Given the description of an element on the screen output the (x, y) to click on. 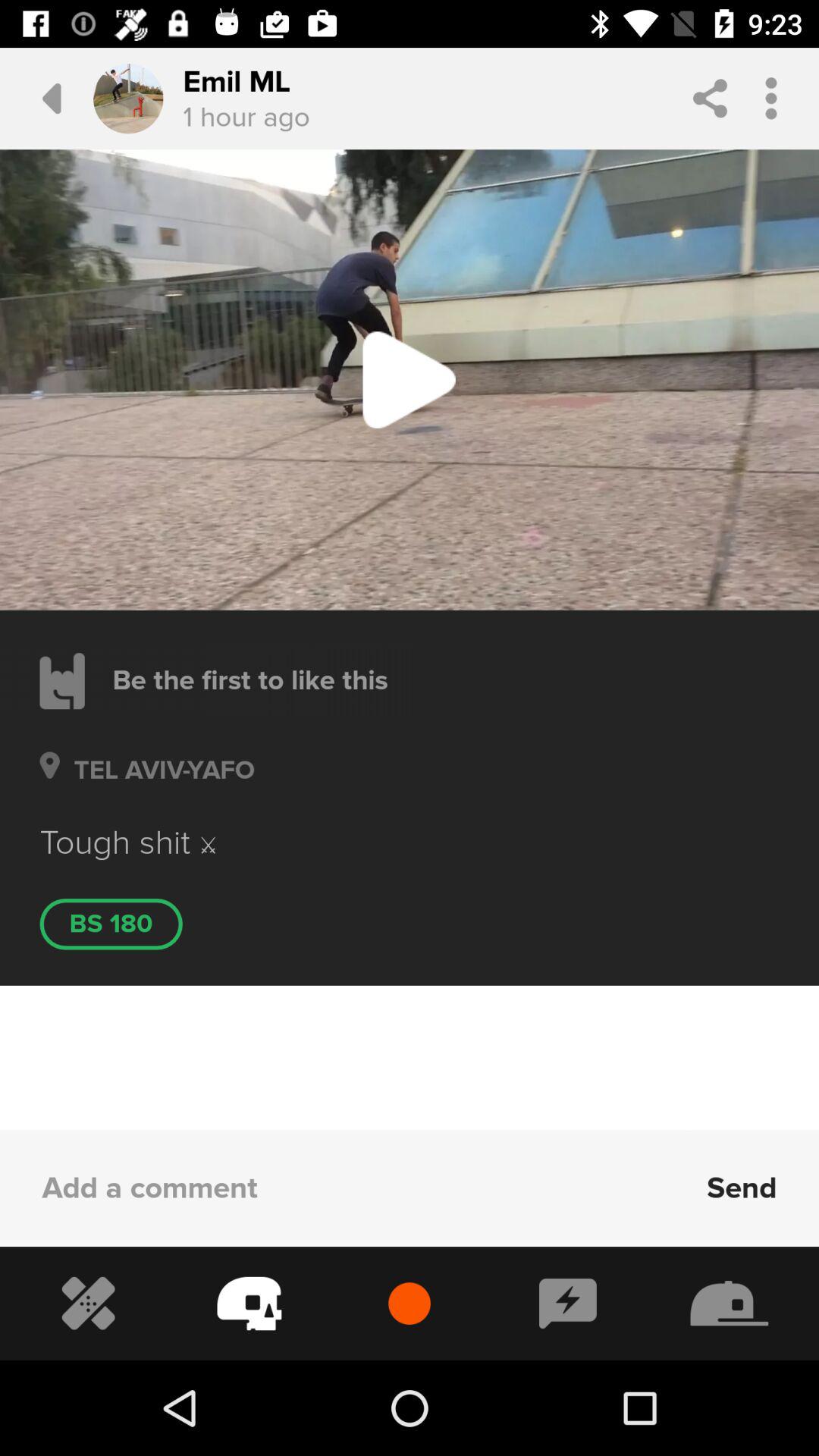
select the text above tough shit x (156, 788)
click on the play button in the image (409, 379)
select the location icon on the web page (49, 787)
select the image on the right next to the top left corner button on the web page (127, 98)
